Given the description of an element on the screen output the (x, y) to click on. 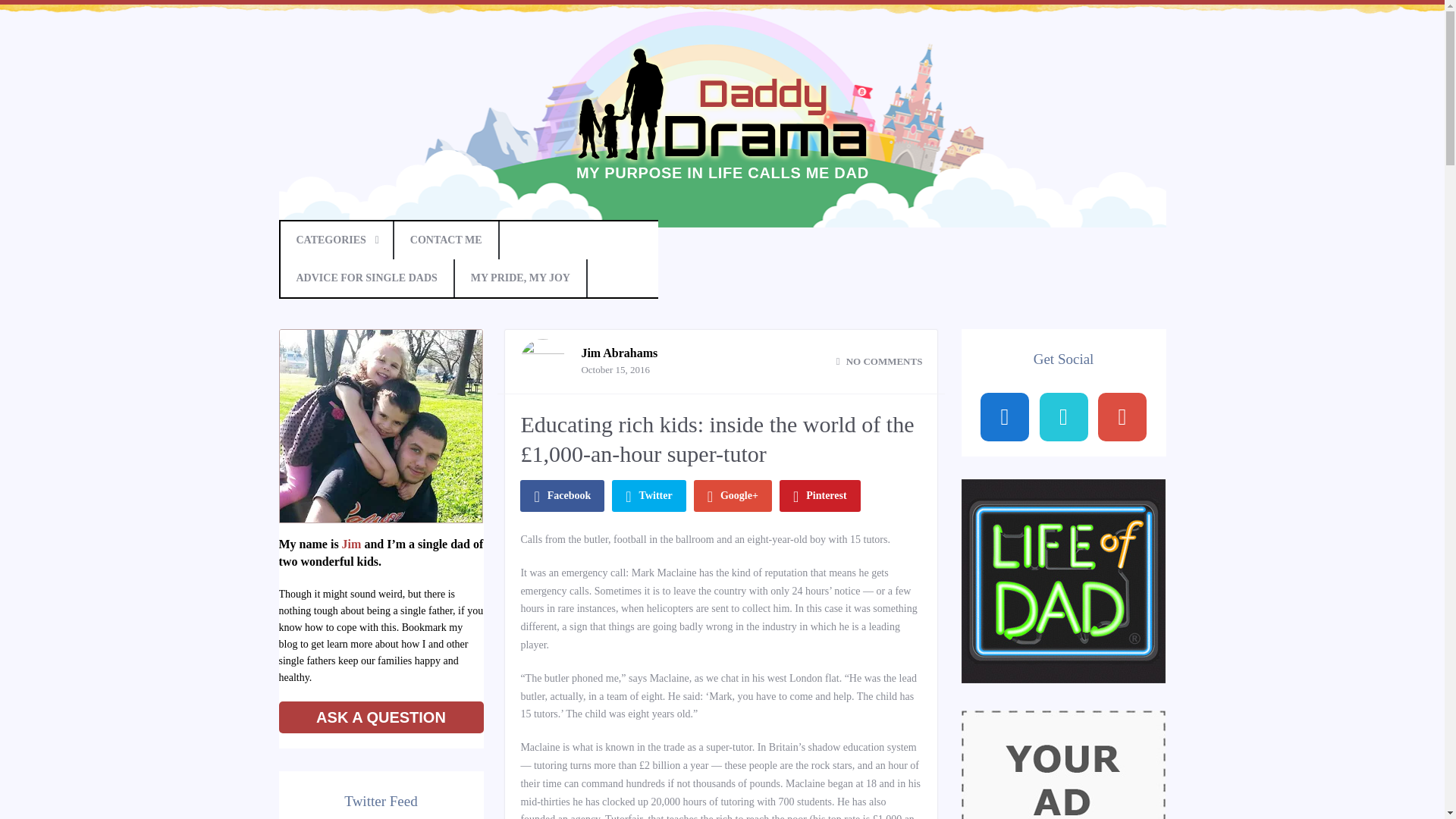
Facebook (561, 495)
NO COMMENTS (879, 360)
Pinterest (819, 495)
CATEGORIES (337, 240)
Twitter (648, 495)
ADVICE FOR SINGLE DADS (367, 278)
MY PRIDE, MY JOY (521, 278)
Jim Abrahams (619, 352)
CONTACT ME (446, 240)
